Given the description of an element on the screen output the (x, y) to click on. 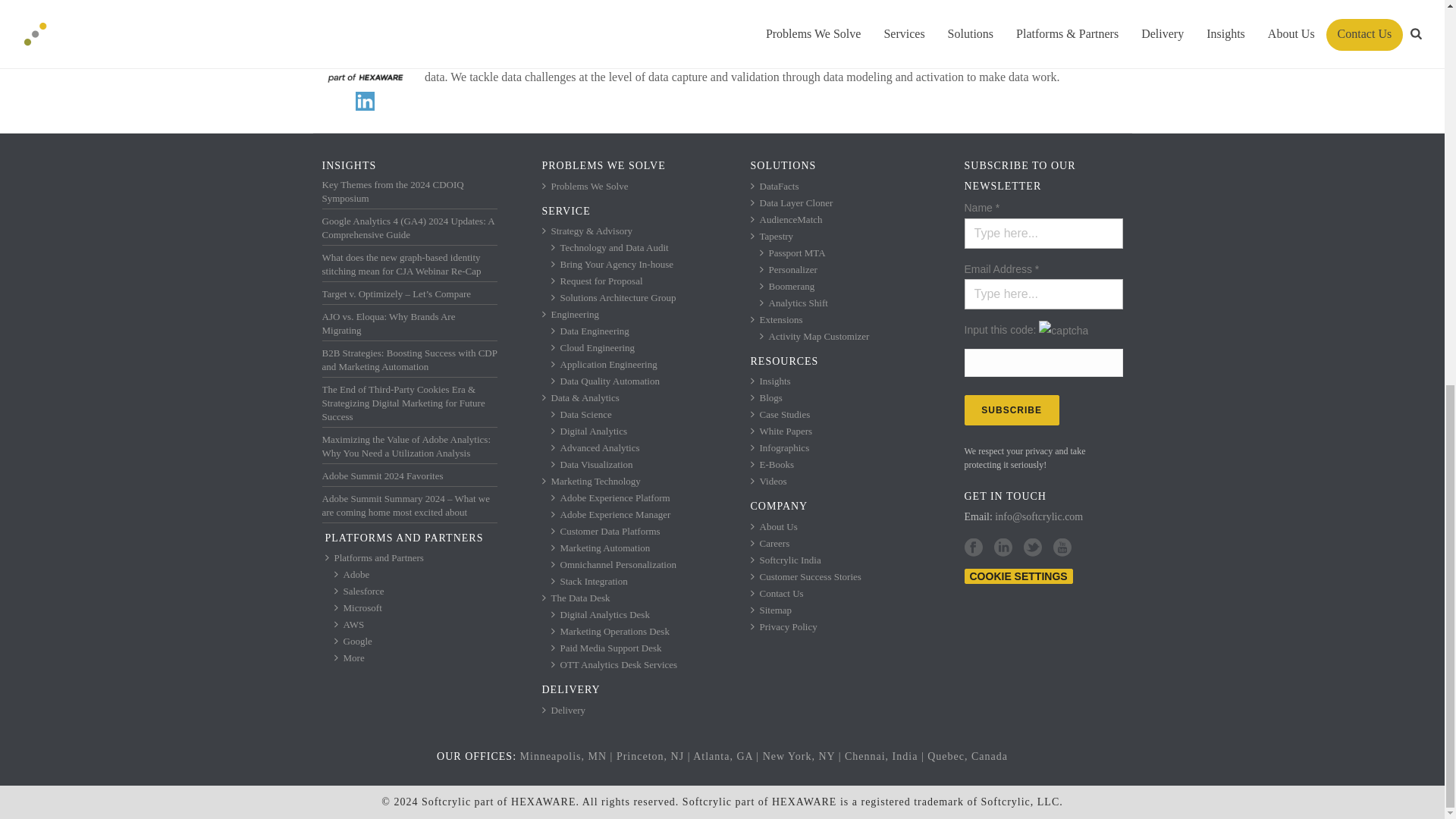
Subscribe (1011, 409)
